Given the description of an element on the screen output the (x, y) to click on. 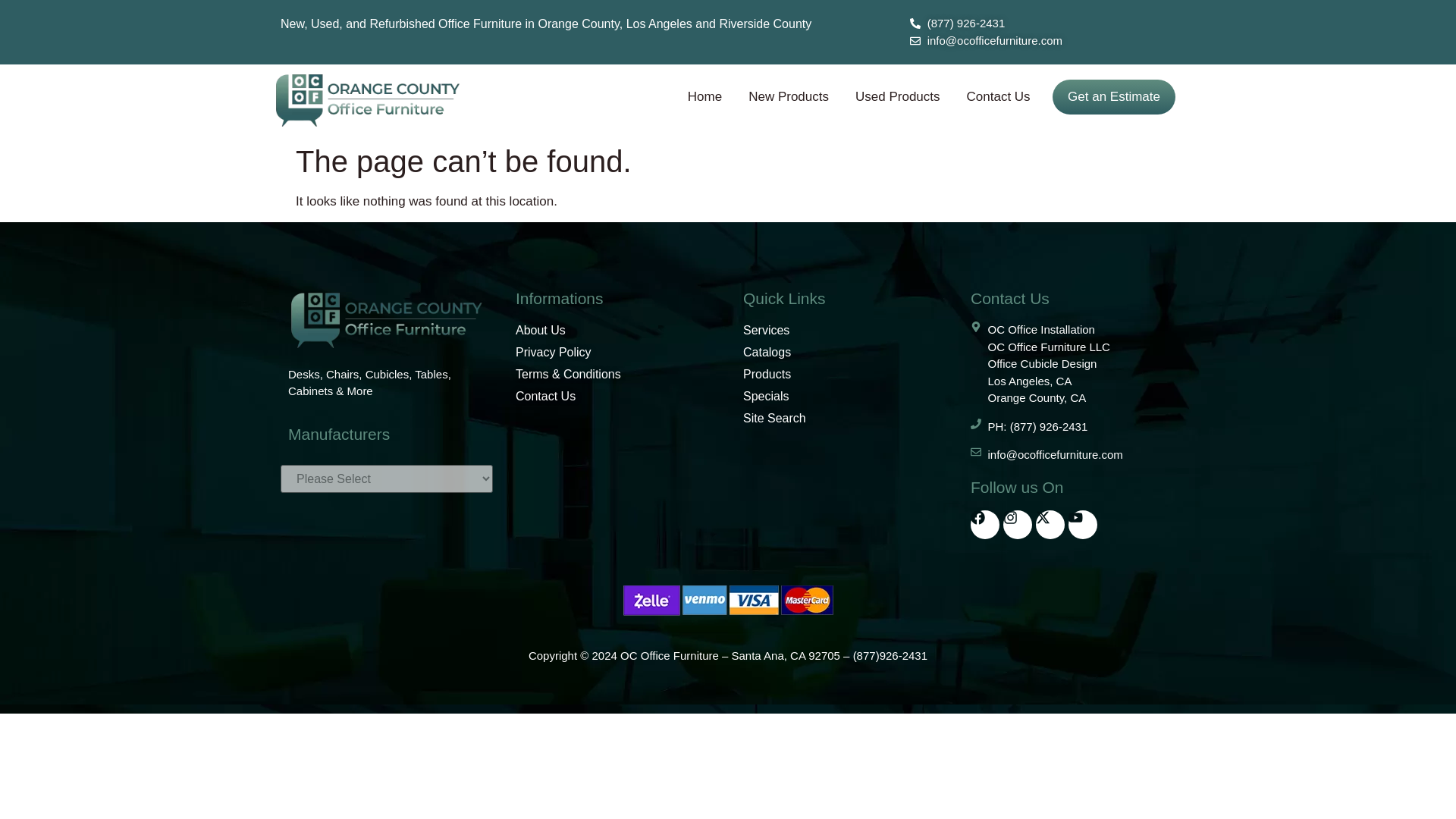
Contact Us (998, 96)
About Us (614, 330)
Privacy Policy (614, 352)
Used Products (898, 96)
Get an Estimate (1113, 96)
New Products (788, 96)
Home (704, 96)
